Given the description of an element on the screen output the (x, y) to click on. 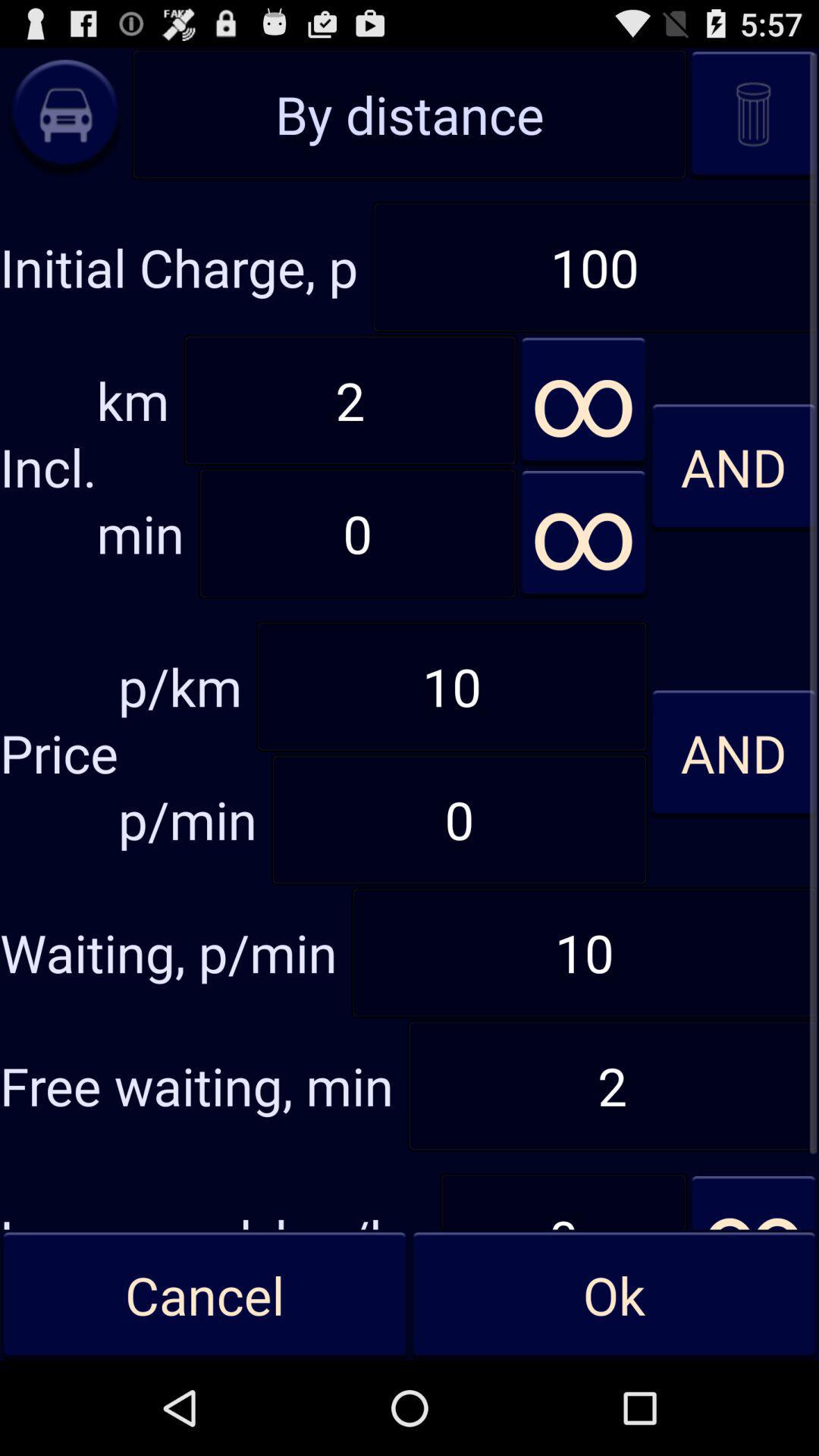
trash the trip (753, 113)
